Given the description of an element on the screen output the (x, y) to click on. 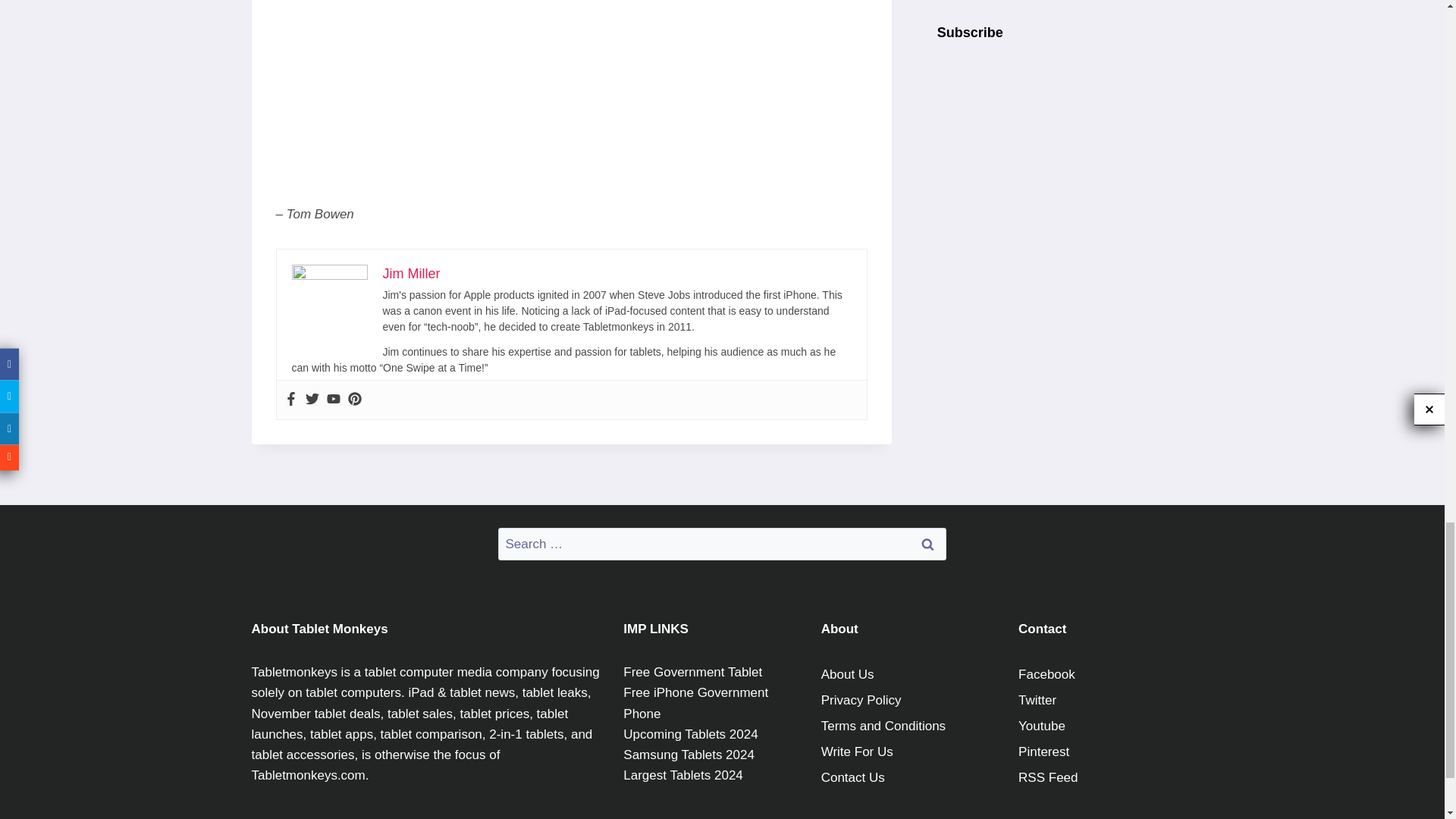
Search (927, 543)
Search (927, 543)
Jim Miller (410, 273)
